Given the description of an element on the screen output the (x, y) to click on. 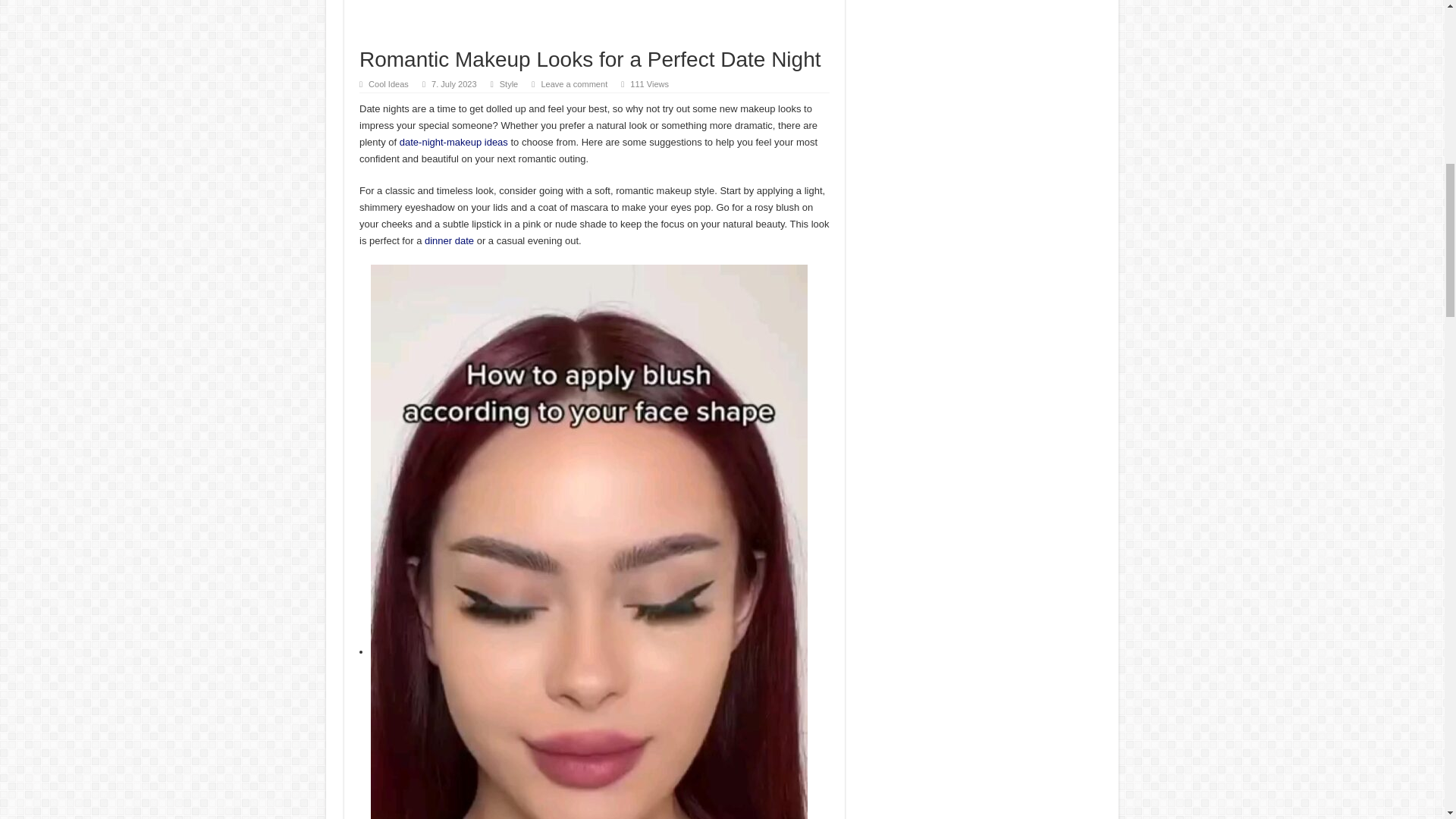
The Latest Trend: Fringed Sneakers for Style and Comfort (449, 240)
dinner date (449, 240)
Date-Night-Makeup Ideas (453, 142)
Style (508, 83)
Cool Ideas (388, 83)
Leave a comment (573, 83)
Advertisement (594, 23)
date-night-makeup ideas (453, 142)
